Given the description of an element on the screen output the (x, y) to click on. 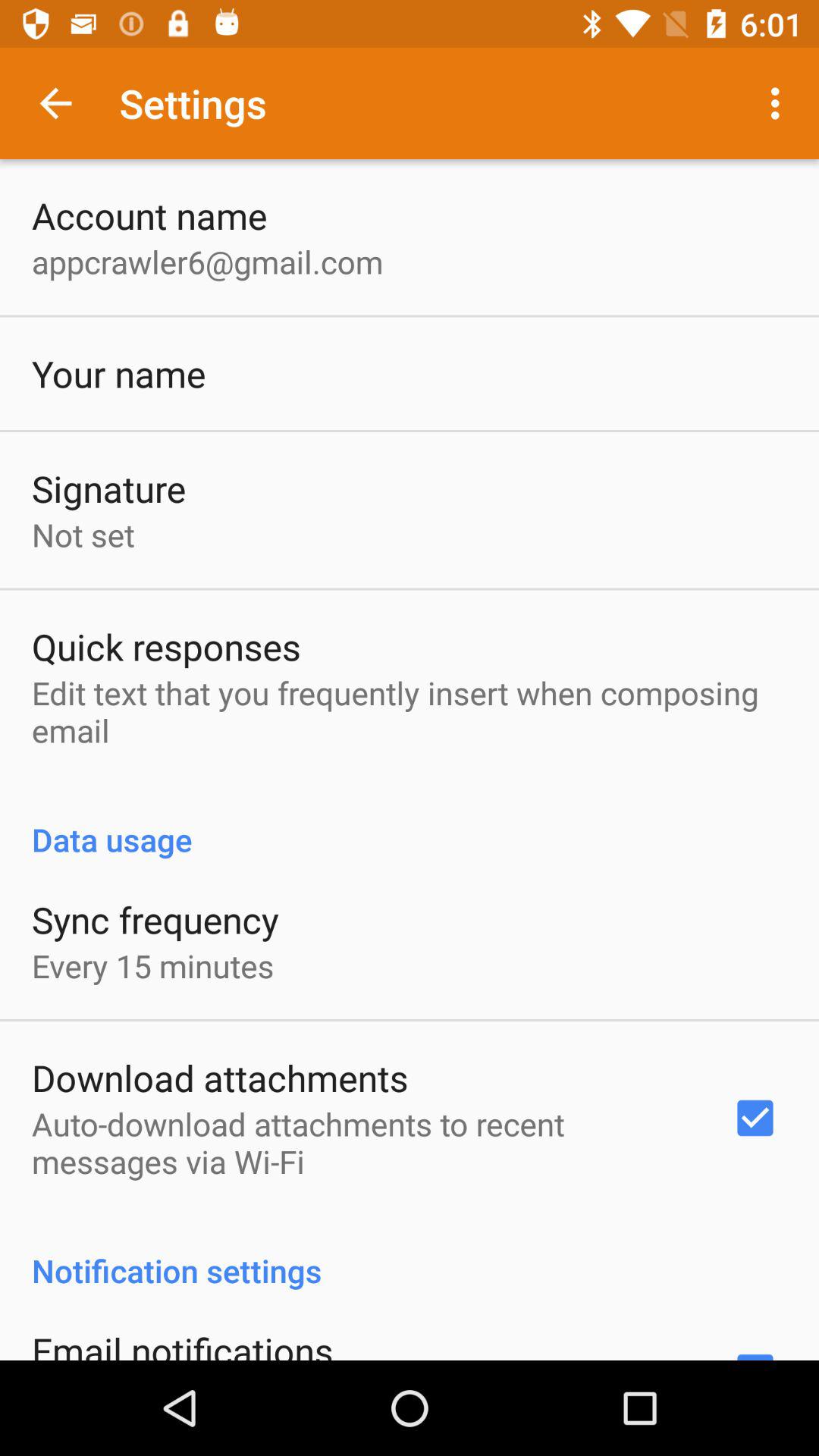
turn off icon below the edit text that app (409, 823)
